Given the description of an element on the screen output the (x, y) to click on. 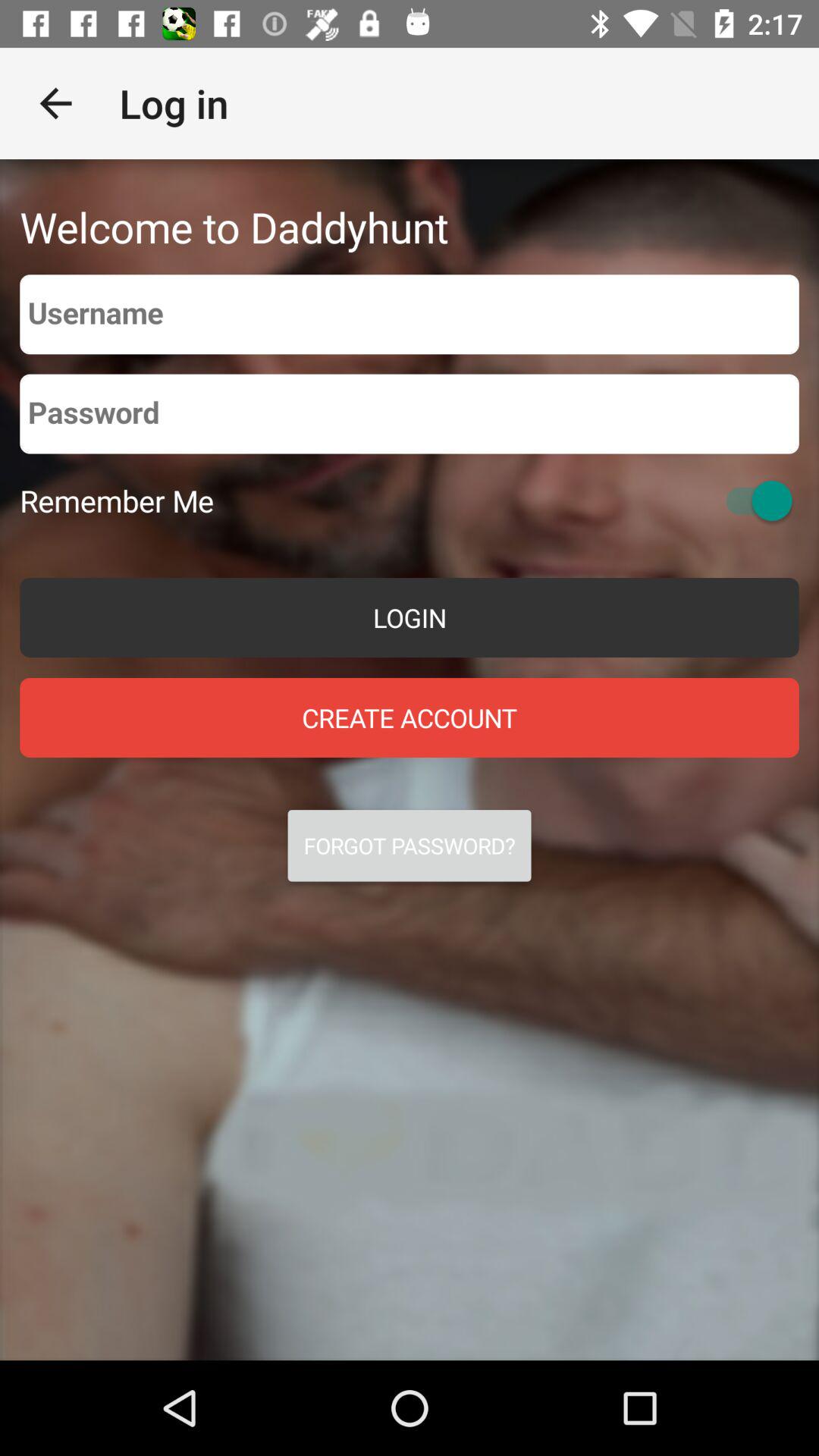
tap the icon above the login item (116, 500)
